Given the description of an element on the screen output the (x, y) to click on. 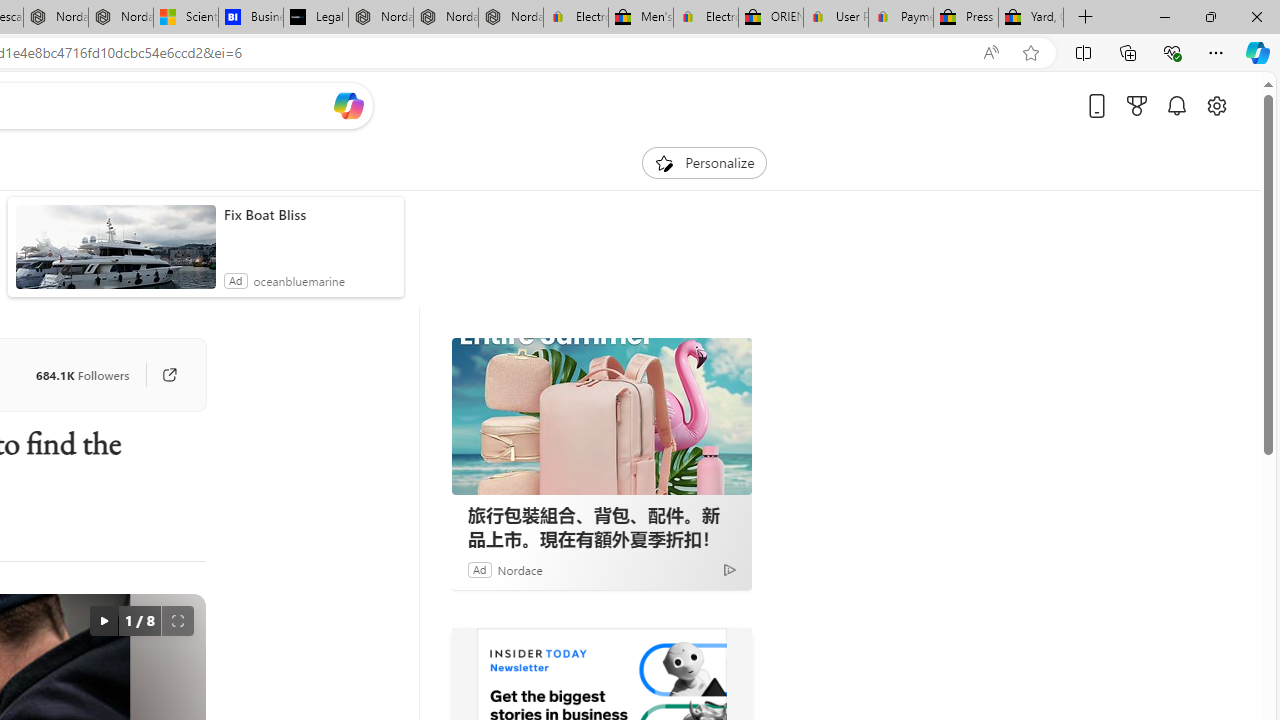
User Privacy Notice | eBay (835, 17)
Full screen (177, 620)
Yard, Garden & Outdoor Living (1030, 17)
Press Room - eBay Inc. (966, 17)
oceanbluemarine (299, 280)
